Given the description of an element on the screen output the (x, y) to click on. 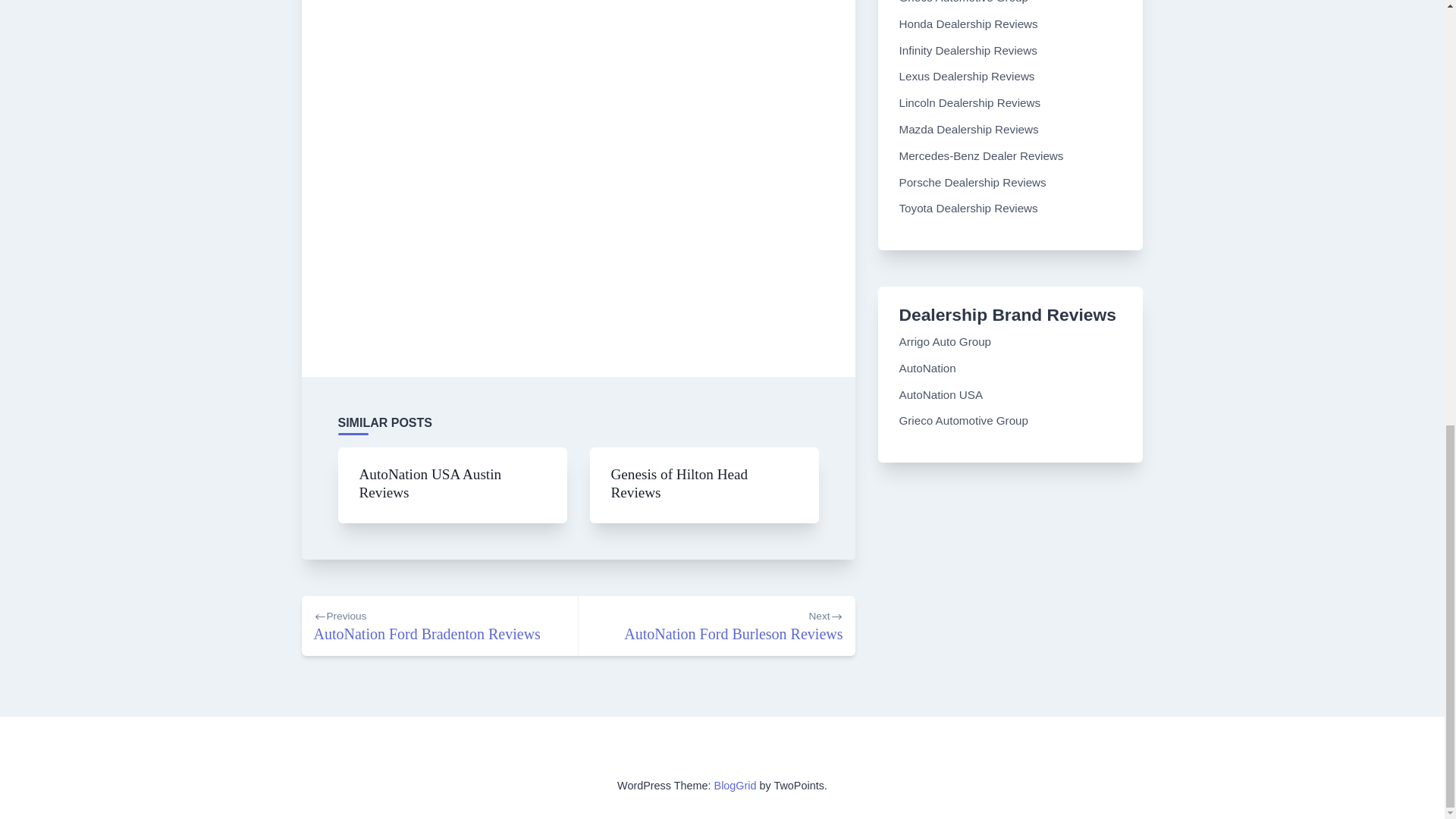
AutoNation USA (716, 626)
Genesis of Hilton Head Reviews (941, 394)
Mazda Dealership Reviews (679, 483)
Toyota Dealership Reviews (969, 128)
Honda Dealership Reviews (968, 207)
Grieco Automotive Group (968, 23)
Lexus Dealership Reviews (964, 420)
AutoNation (967, 75)
Grieco Automotive Group (927, 367)
